Given the description of an element on the screen output the (x, y) to click on. 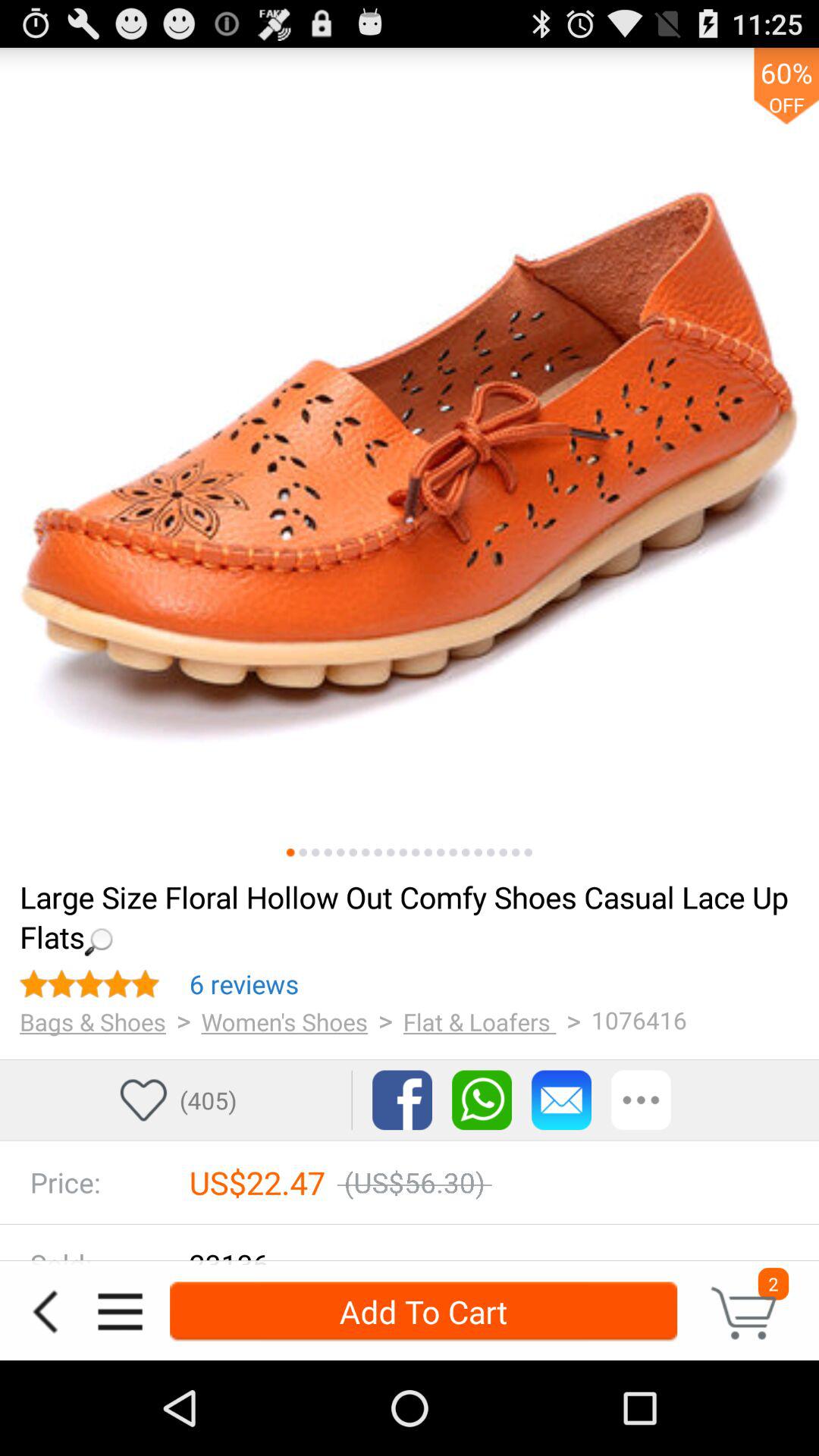
next image (515, 852)
